Given the description of an element on the screen output the (x, y) to click on. 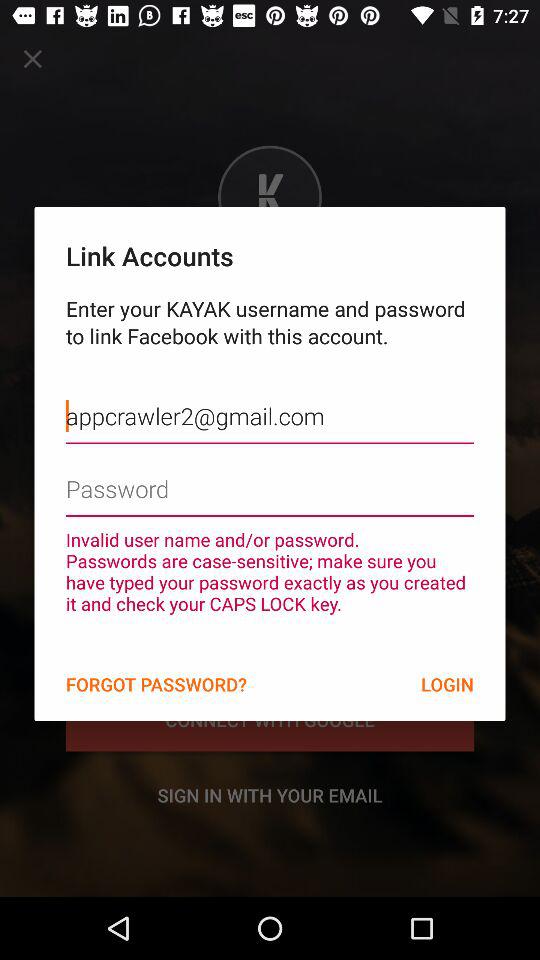
authentication check (270, 474)
